Given the description of an element on the screen output the (x, y) to click on. 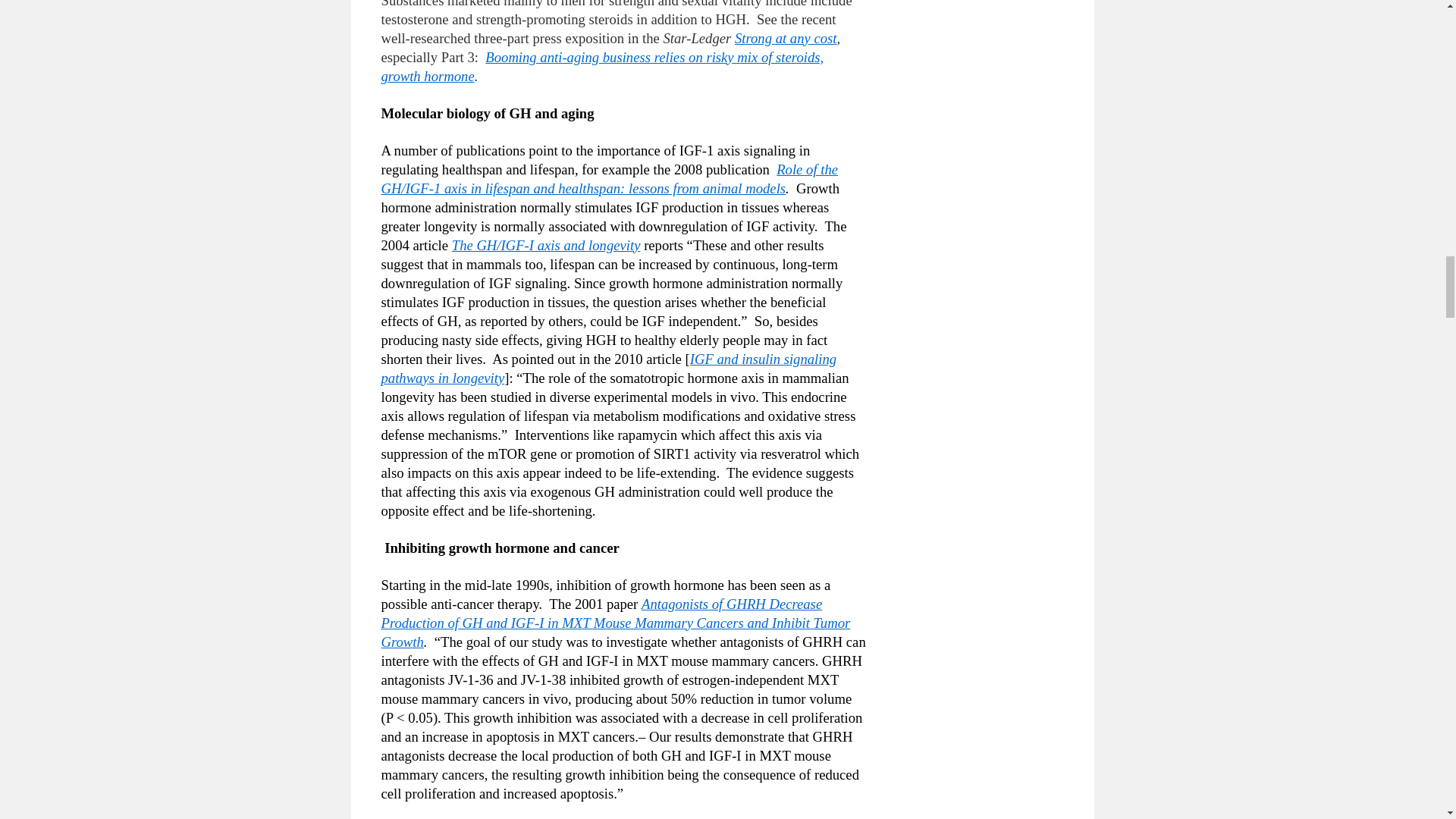
IGF and insulin signaling pathways in longevity (607, 368)
Strong at any cost (786, 37)
